Given the description of an element on the screen output the (x, y) to click on. 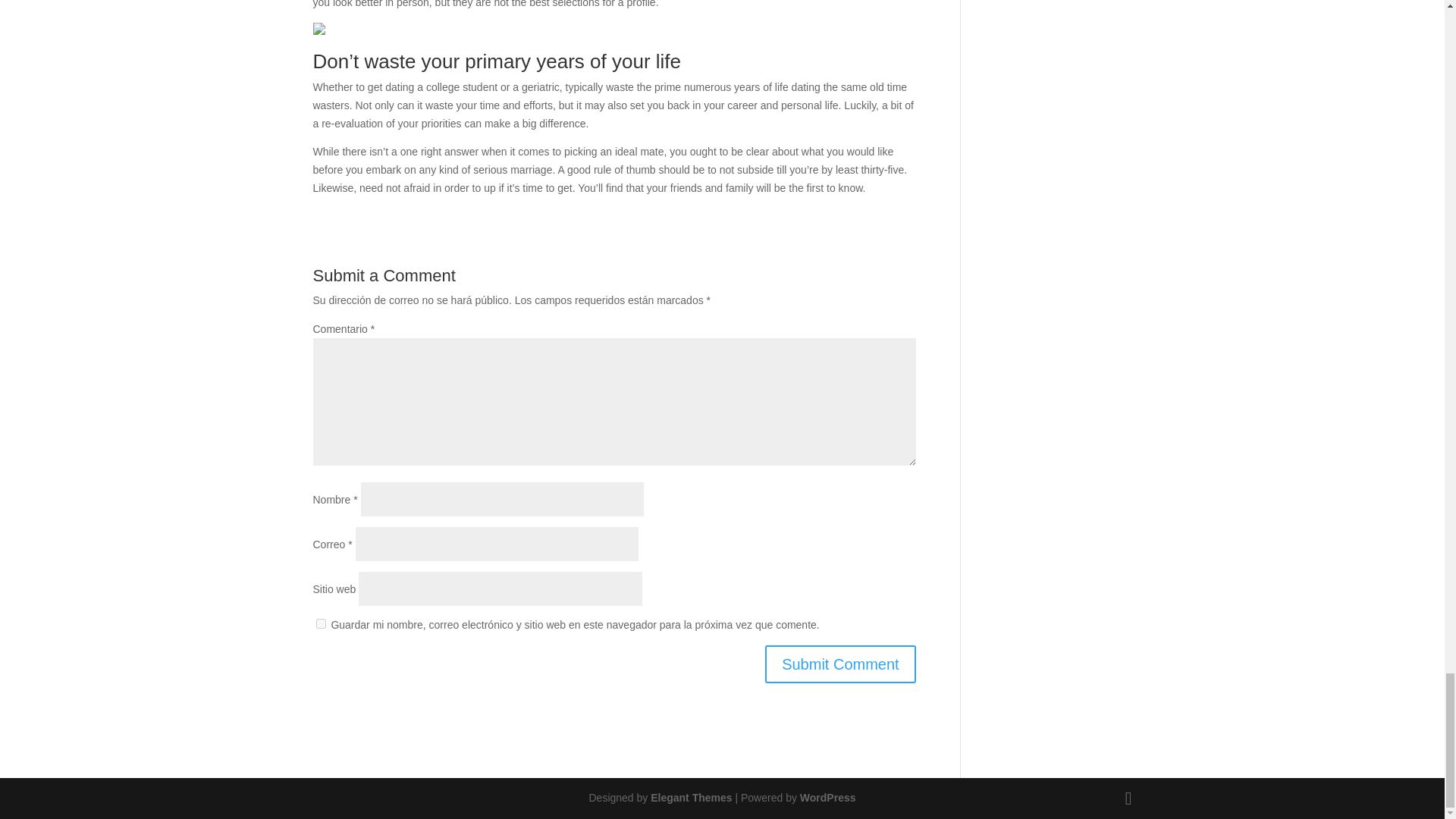
Elegant Themes (691, 797)
Submit Comment (840, 664)
Submit Comment (840, 664)
yes (319, 623)
Premium WordPress Themes (691, 797)
WordPress (827, 797)
